Given the description of an element on the screen output the (x, y) to click on. 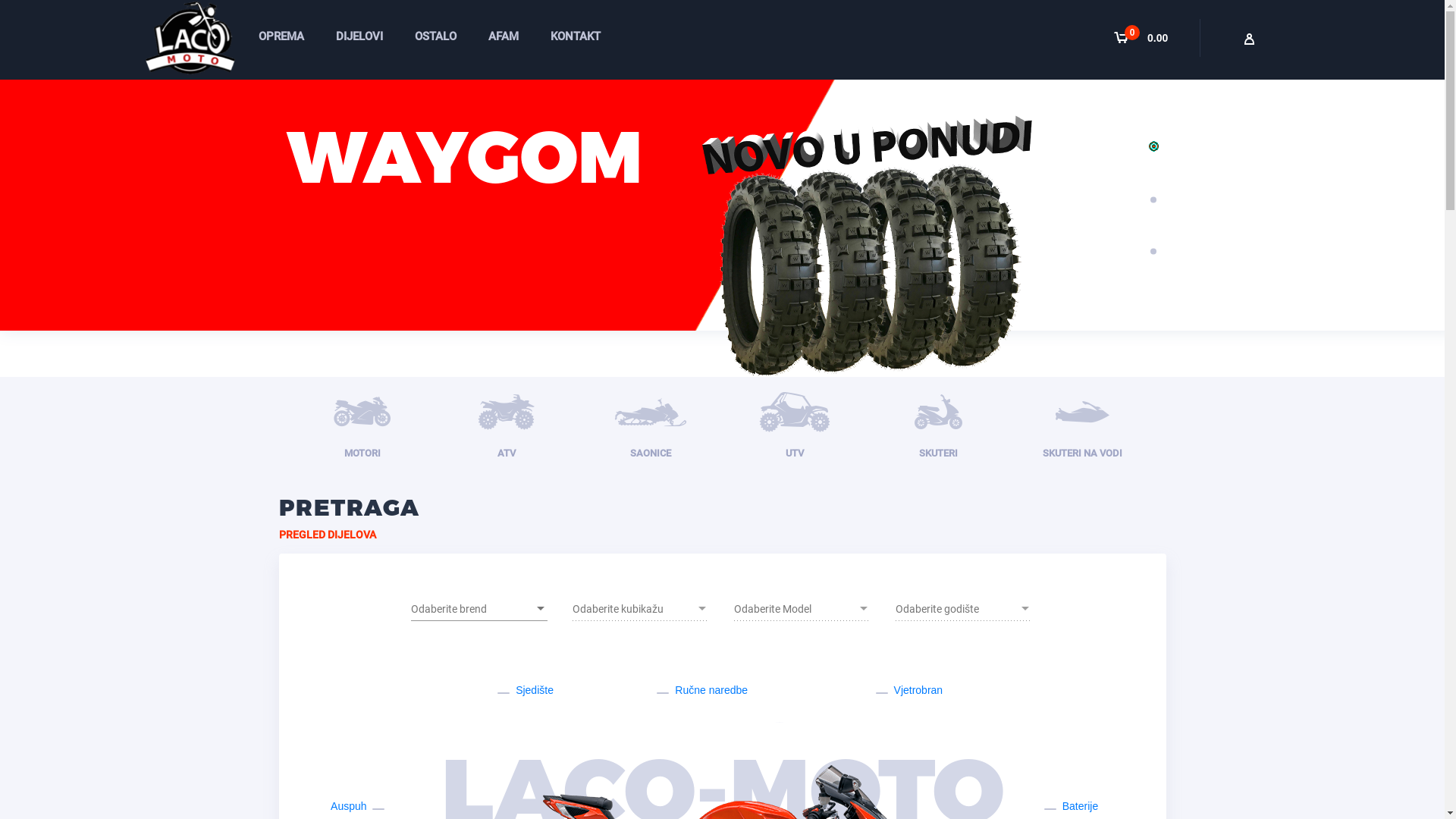
0
0.00 Element type: text (1145, 37)
DIJELOVI Element type: text (358, 36)
Vjetrobran Element type: text (907, 689)
AFAM Element type: text (503, 36)
KONTAKT Element type: text (575, 36)
Baterije Element type: text (1069, 805)
UTV Element type: text (794, 424)
Auspuh Element type: text (359, 805)
ATV Element type: text (506, 424)
SKUTERI NA VODI Element type: text (1082, 424)
OSTALO Element type: text (435, 36)
MOTORI Element type: text (362, 424)
SKUTERI Element type: text (938, 424)
OPREMA Element type: text (281, 36)
SAONICE Element type: text (650, 424)
